Given the description of an element on the screen output the (x, y) to click on. 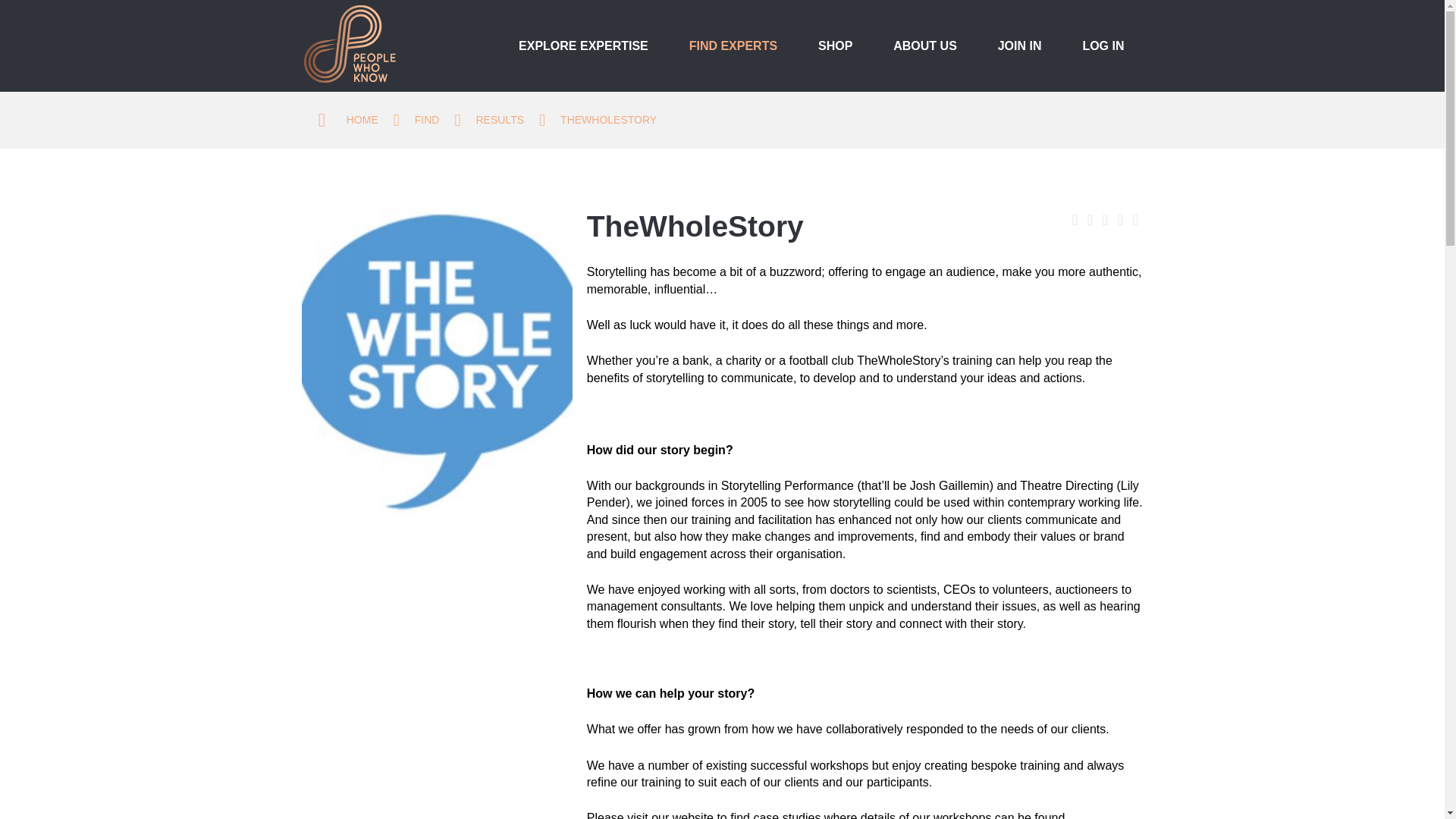
EXPLORE EXPERTISE (582, 56)
SHOP (834, 56)
LOG IN (1102, 56)
JOIN IN (1019, 56)
ABOUT US (925, 56)
FIND EXPERTS (732, 56)
